Given the description of an element on the screen output the (x, y) to click on. 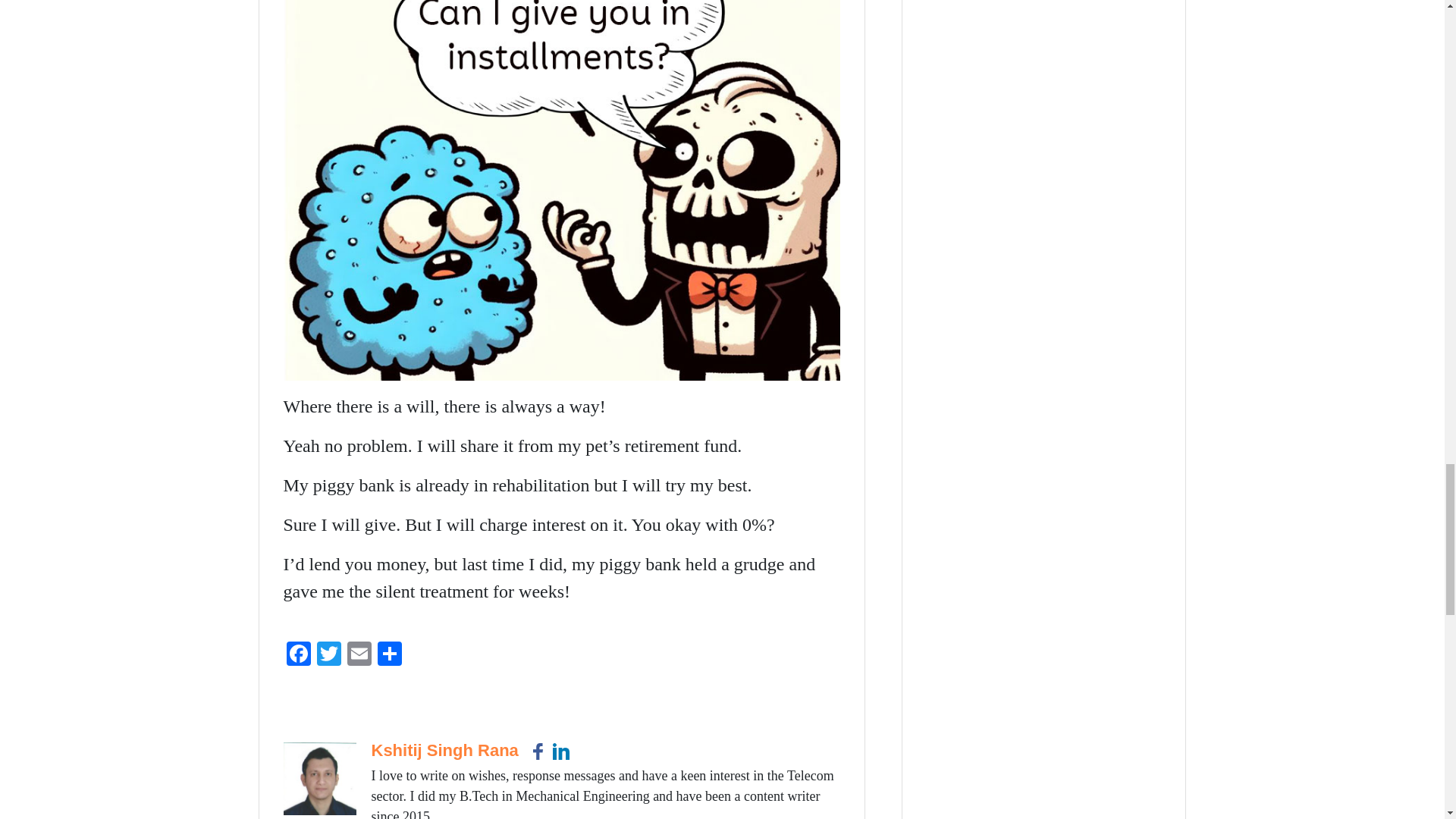
Twitter (328, 655)
Facebook (298, 655)
Email (358, 655)
Twitter (328, 655)
Share (389, 655)
Email (358, 655)
Facebook (298, 655)
Facebook (538, 750)
Linkedin (561, 750)
